Given the description of an element on the screen output the (x, y) to click on. 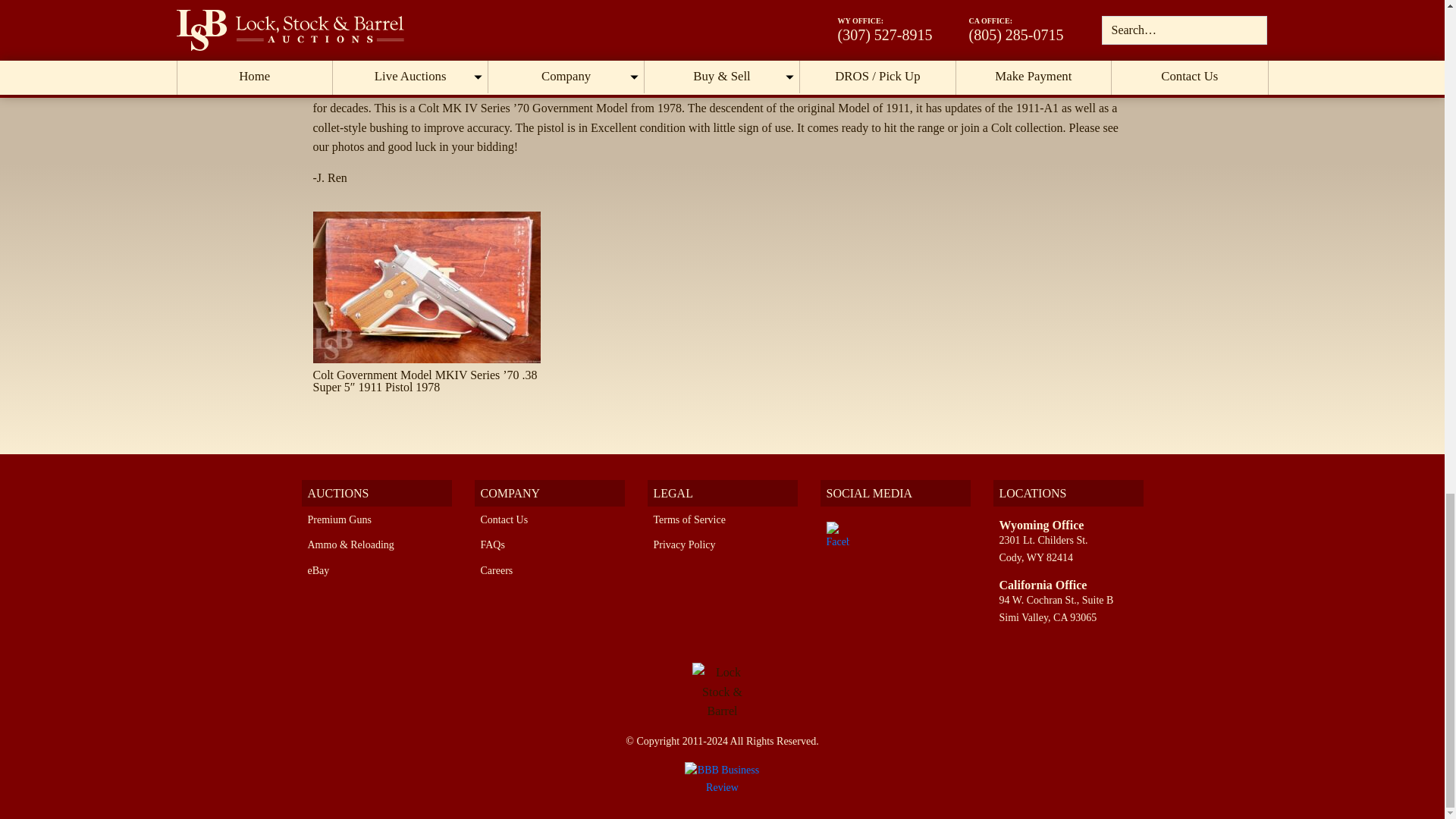
Contact Us (504, 519)
Premium Guns (339, 519)
Business Review of Lock, Stock and Barrel Investments (722, 778)
Privacy Policy (684, 544)
Terms of Service (689, 519)
Careers (496, 570)
eBay (318, 570)
FAQs (492, 544)
Opens a new window (722, 778)
